Given the description of an element on the screen output the (x, y) to click on. 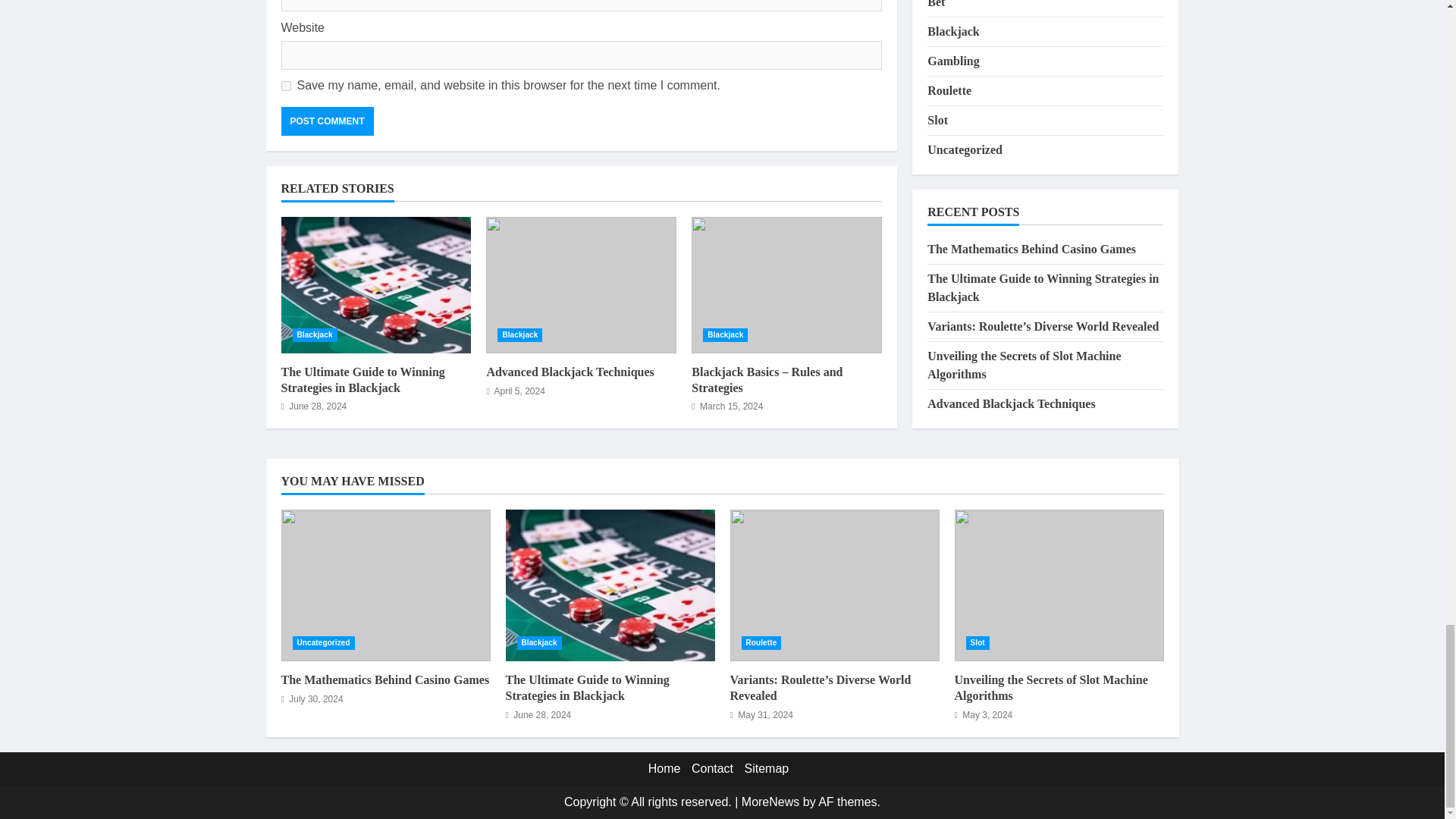
The Ultimate Guide to Winning Strategies in Blackjack (362, 379)
The Ultimate Guide to Winning Strategies in Blackjack (375, 284)
Advanced Blackjack Techniques (581, 284)
Blackjack (314, 335)
Advanced Blackjack Techniques (569, 371)
yes (285, 85)
Post Comment (326, 121)
Blackjack (519, 335)
Post Comment (326, 121)
Blackjack (725, 335)
